Given the description of an element on the screen output the (x, y) to click on. 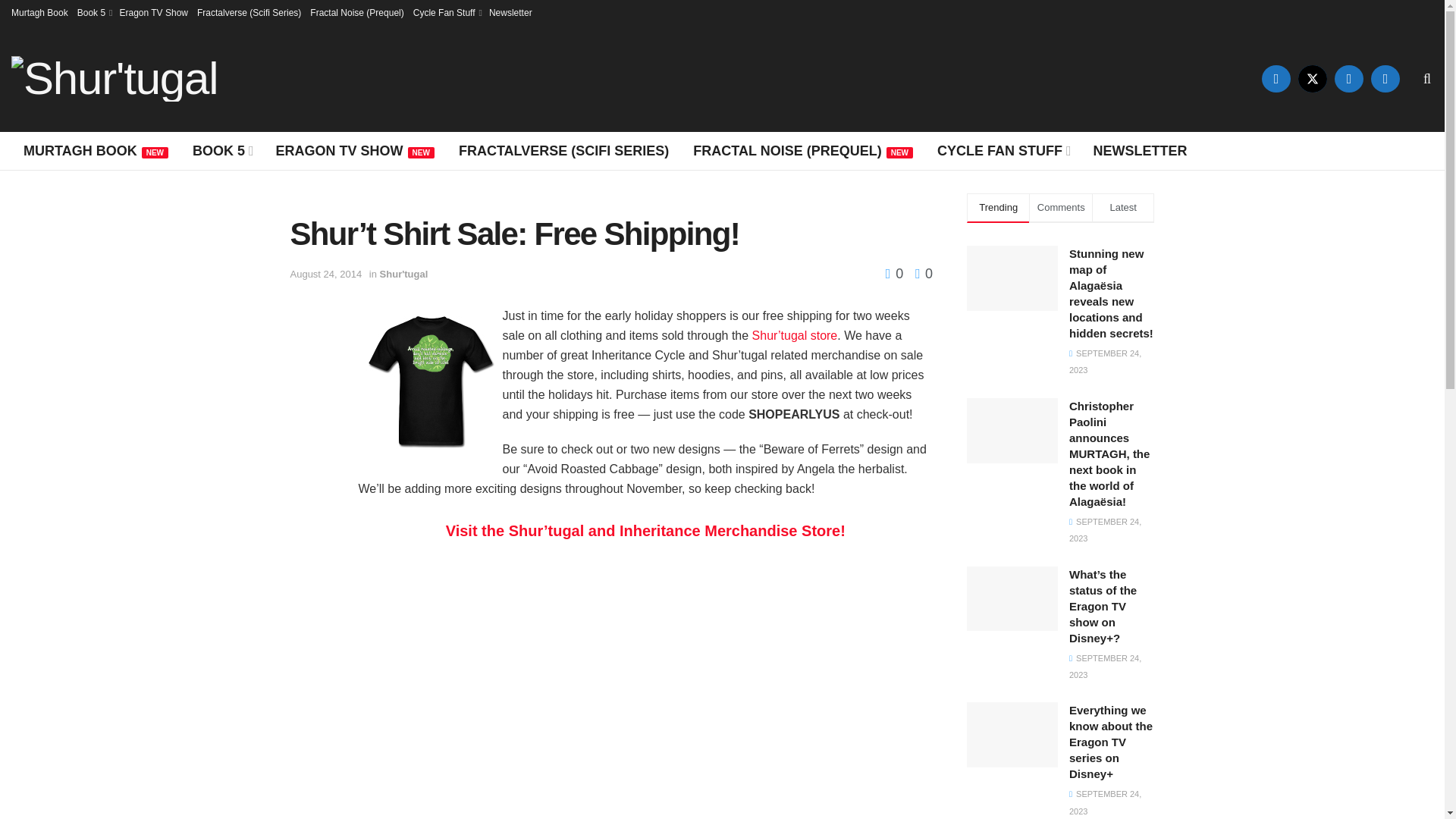
BOOK 5 (221, 150)
Newsletter (510, 12)
MURTAGH BOOKNEW (95, 150)
Book 5 (93, 12)
Eragon TV Show (153, 12)
ERAGON TV SHOWNEW (354, 150)
mens cabbage (430, 382)
CYCLE FAN STUFF (1002, 150)
Murtagh Book (39, 12)
Cycle Fan Stuff (446, 12)
